Given the description of an element on the screen output the (x, y) to click on. 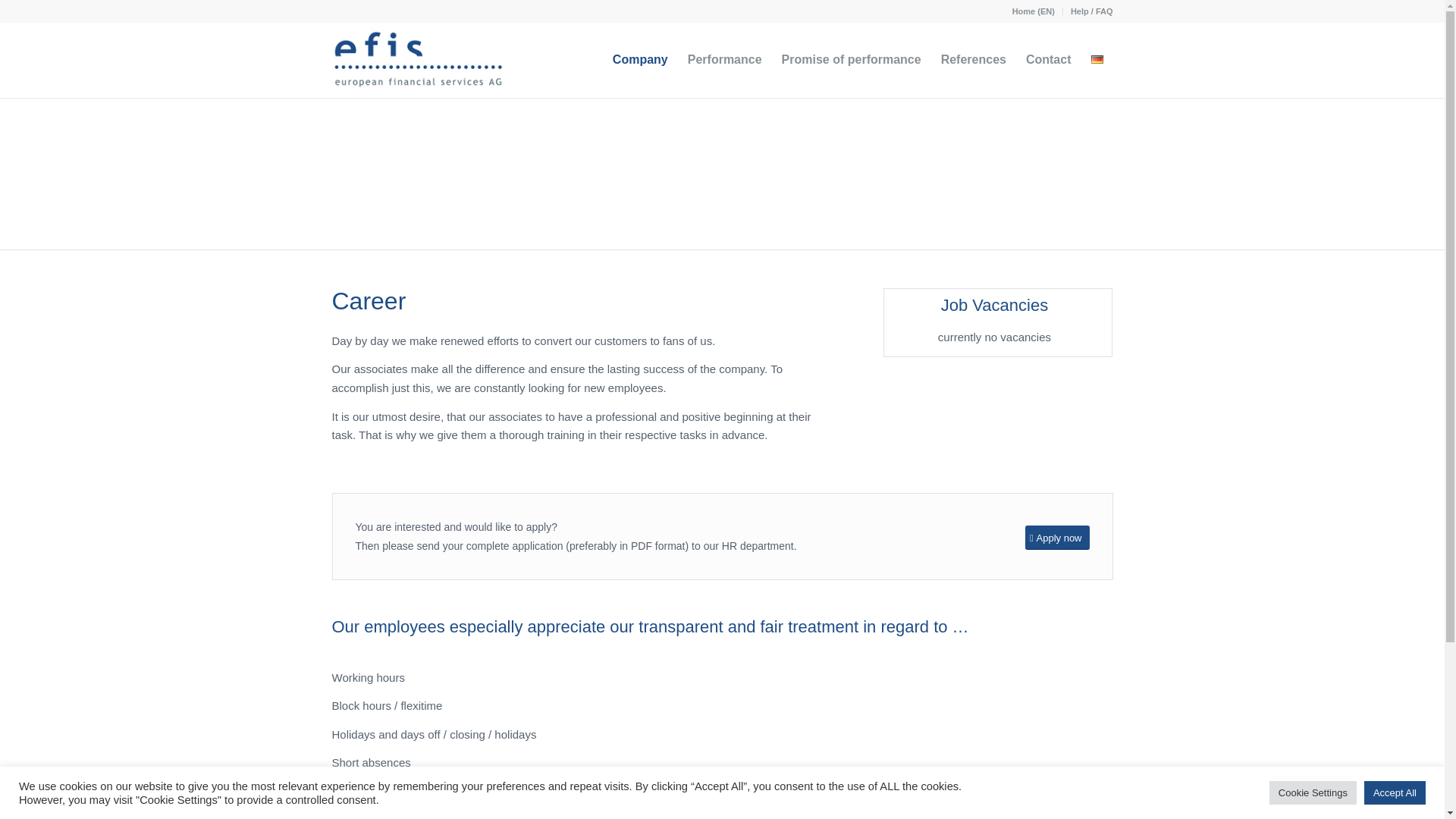
Promise of performance (851, 59)
Performance (724, 59)
References (973, 59)
Apply now (1057, 537)
Cookie Settings (1312, 792)
efis-Logo (417, 59)
Company (640, 59)
Accept All (1394, 792)
